Given the description of an element on the screen output the (x, y) to click on. 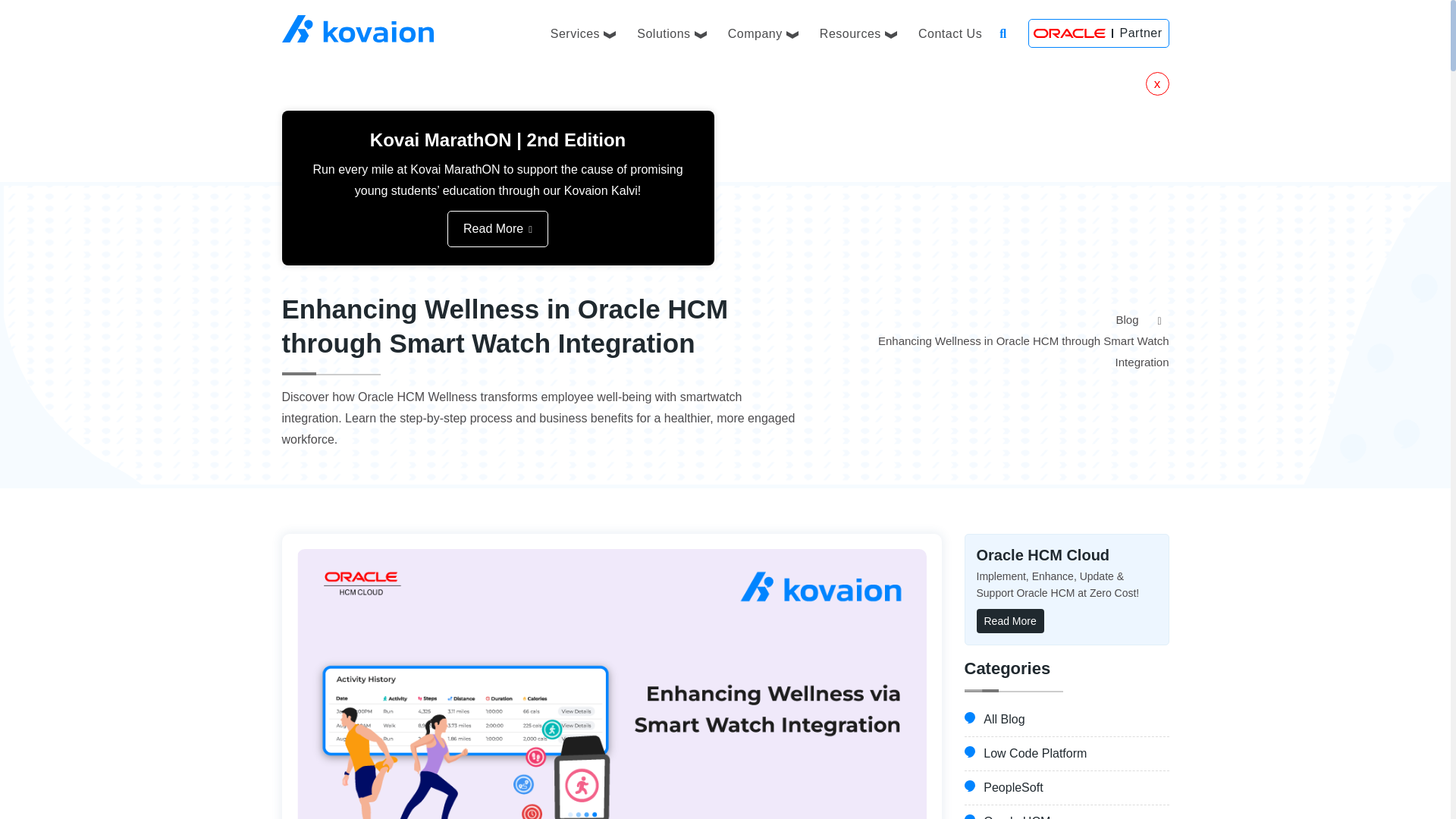
Solutions (671, 32)
Services (582, 32)
Resources (857, 32)
Partner (1098, 32)
Company (762, 32)
Contact Us (949, 32)
